Given the description of an element on the screen output the (x, y) to click on. 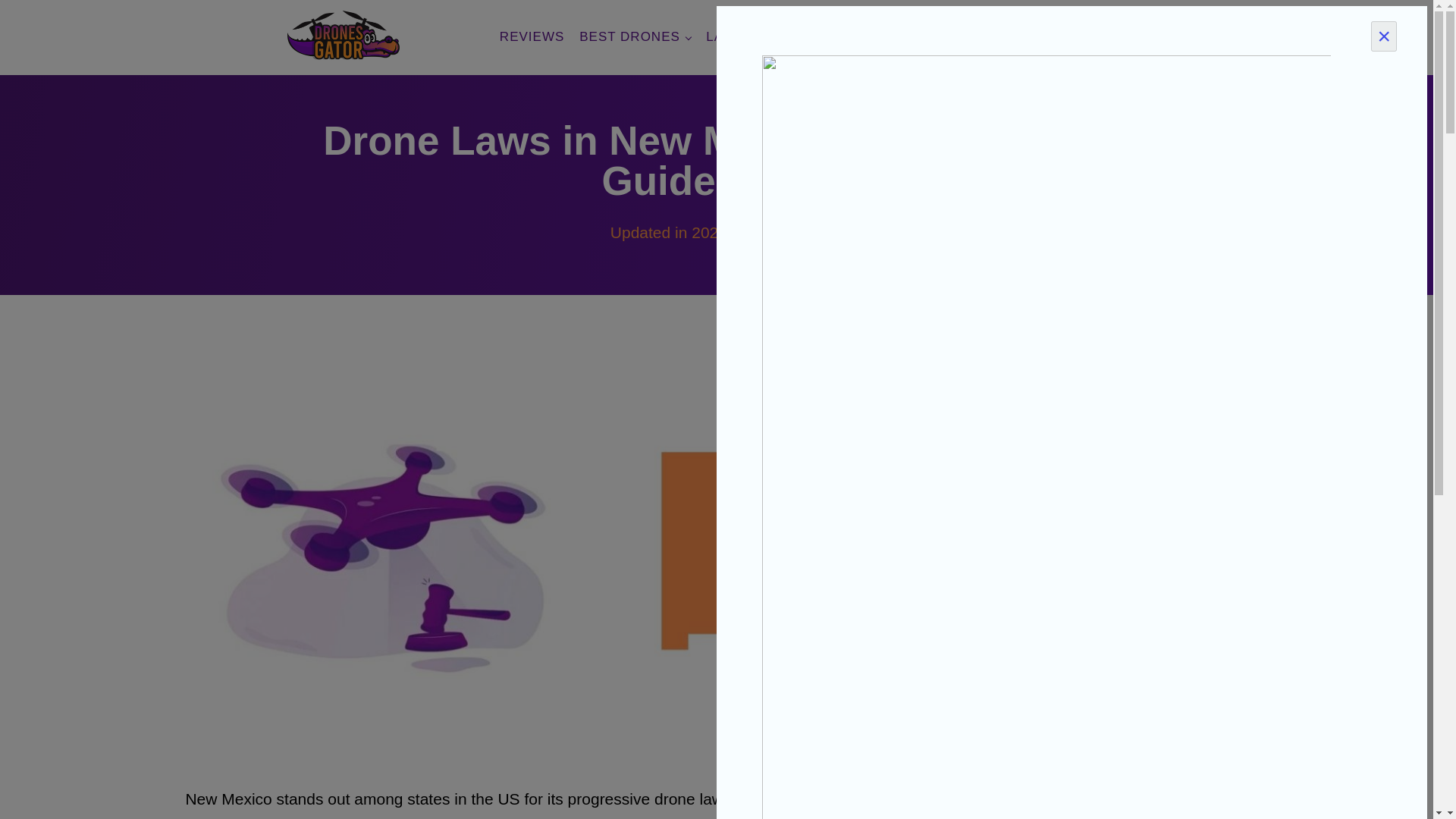
REVIEWS (532, 36)
BEST DRONES (635, 36)
LAWS (730, 36)
